Given the description of an element on the screen output the (x, y) to click on. 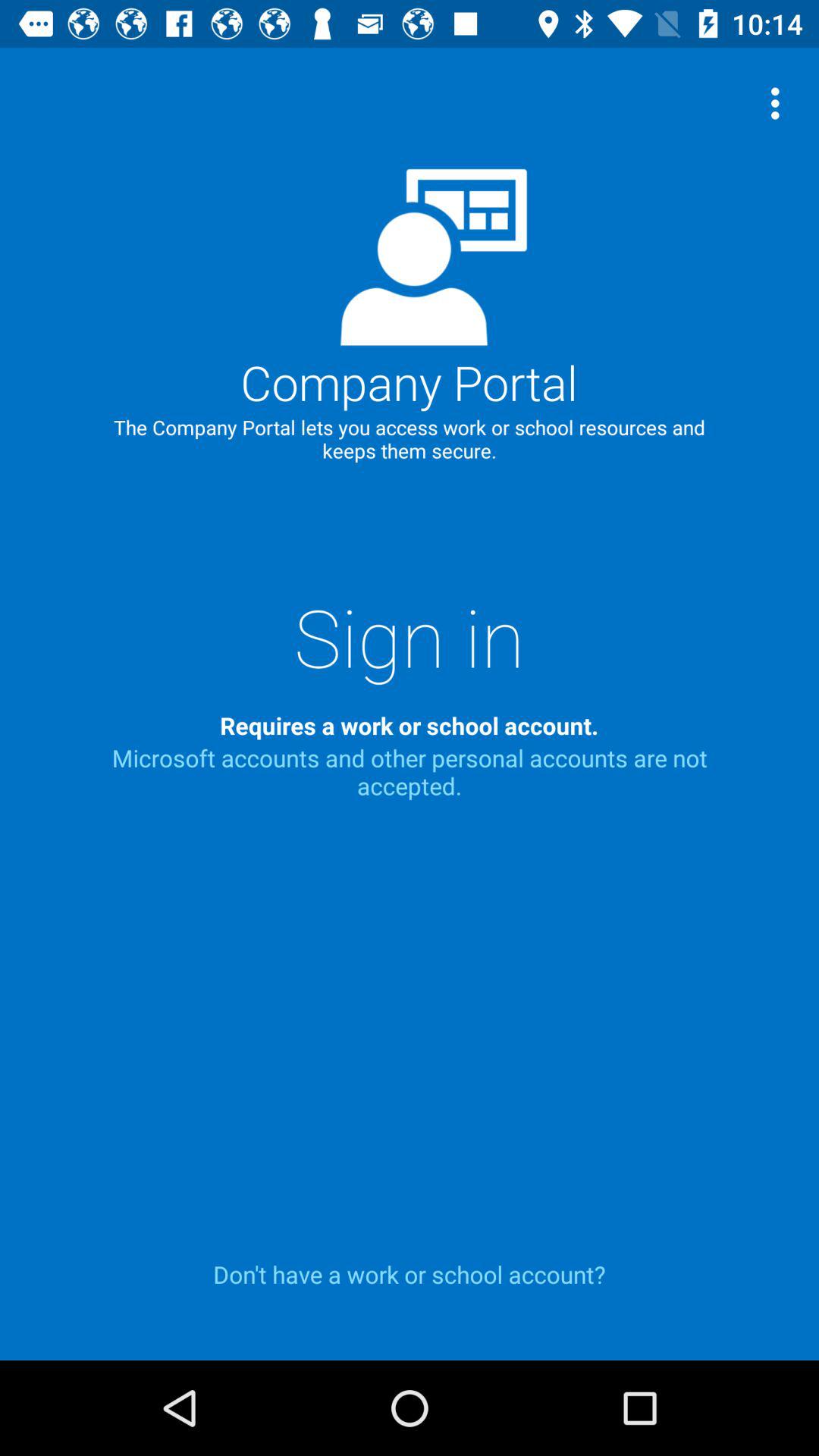
tap icon below the company portal icon (409, 636)
